Given the description of an element on the screen output the (x, y) to click on. 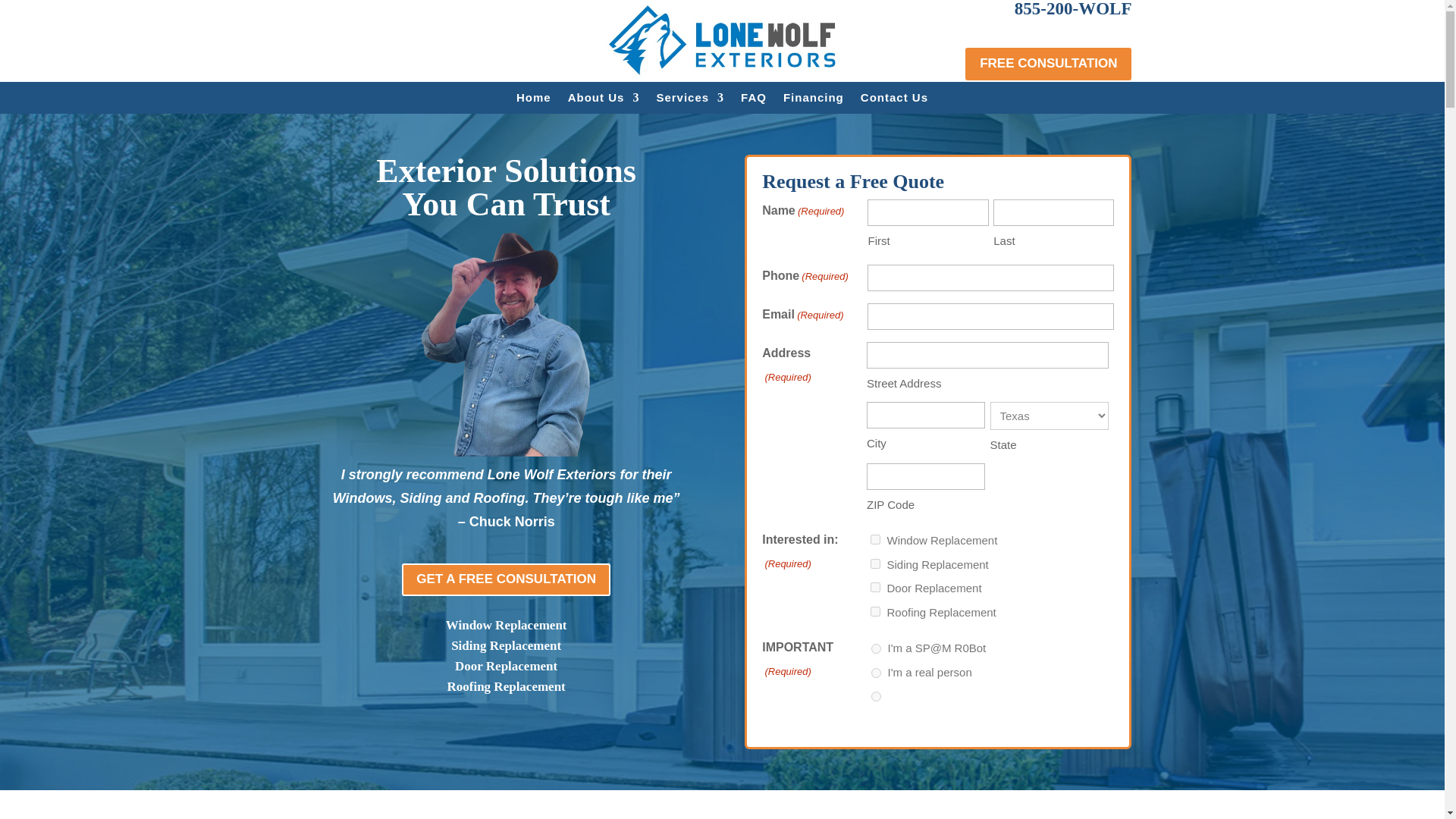
Request My Quote (53, 14)
Contact Us (894, 100)
Door Replacement (875, 587)
Financing (813, 100)
Window Replacement (875, 539)
I'm a real person (875, 673)
GET A FREE CONSULTATION (505, 579)
Home (533, 100)
FREE CONSULTATION (1048, 63)
Services (689, 100)
FAQ (754, 100)
Roofing Replacement (875, 611)
About Us (603, 100)
Siding Replacement (875, 563)
